Given the description of an element on the screen output the (x, y) to click on. 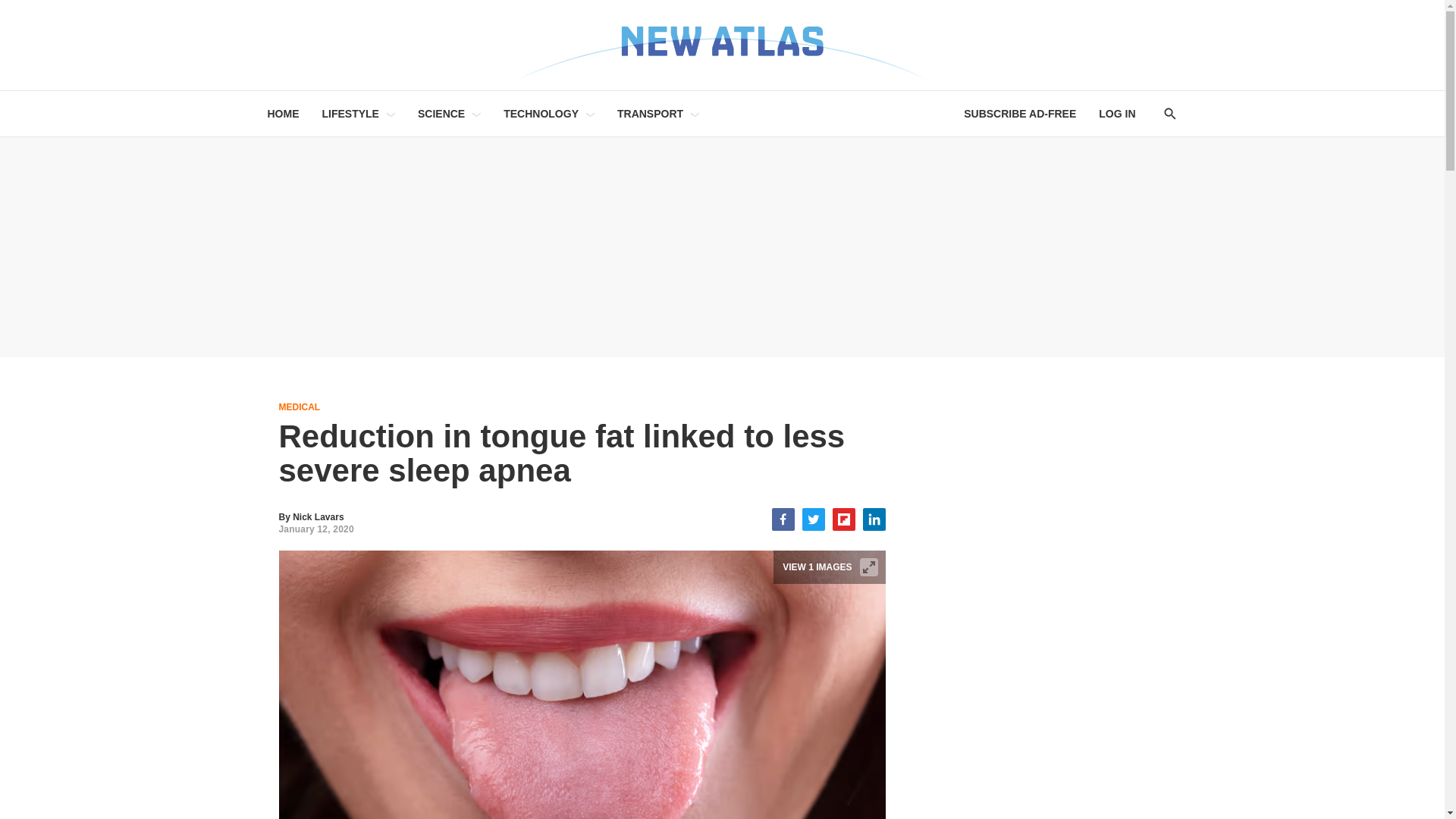
View full-screen (868, 566)
